Given the description of an element on the screen output the (x, y) to click on. 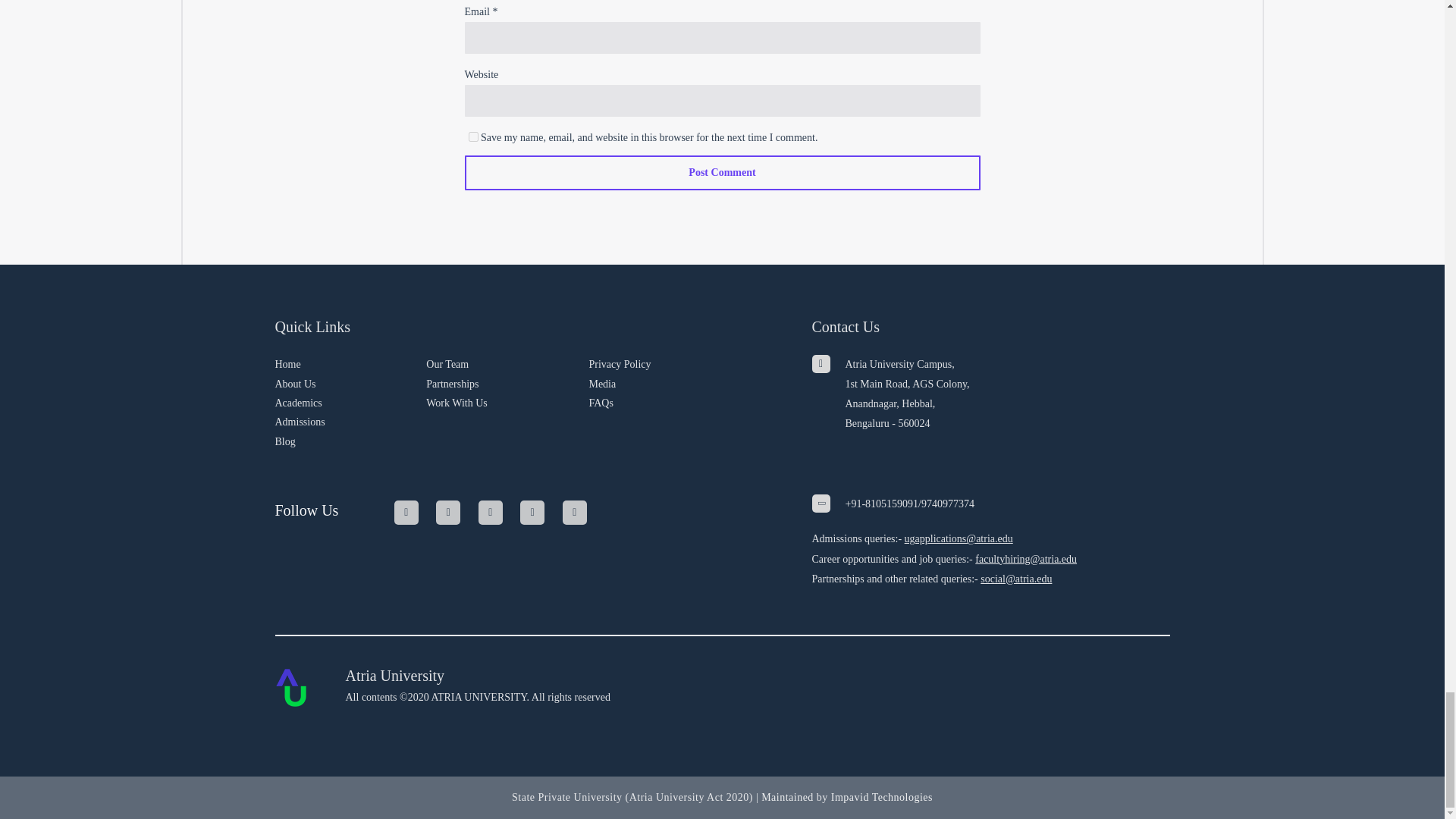
Post Comment (721, 172)
yes (473, 136)
